Given the description of an element on the screen output the (x, y) to click on. 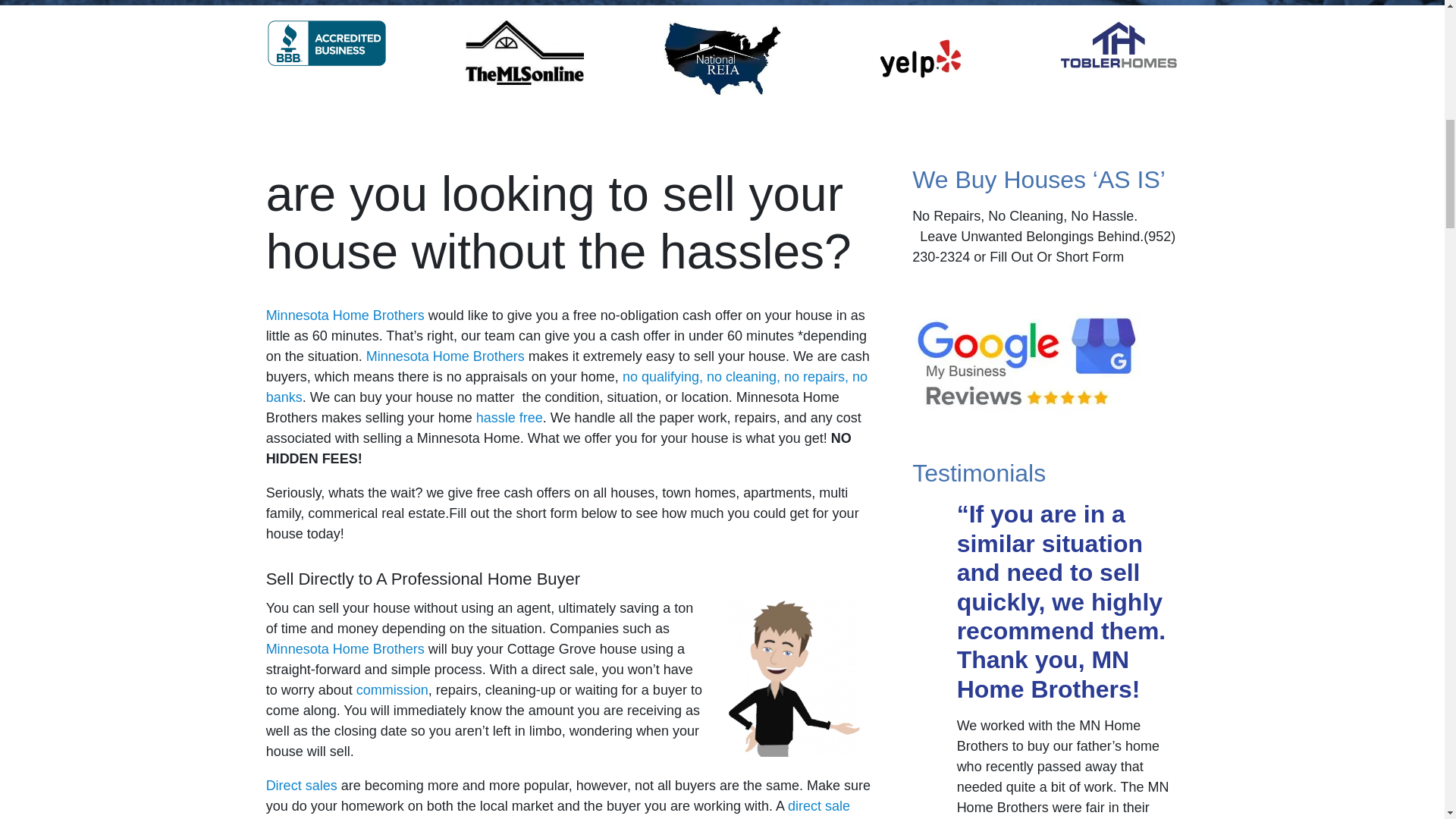
Minnesota Home Brothers (345, 648)
commission (392, 689)
Minnesota Home Brothers (445, 355)
direct sale (818, 806)
no qualifying, no cleaning, no repairs, no banks (566, 386)
Direct sales (301, 785)
hassle free (509, 417)
Minnesota Home Brothers (345, 314)
